Given the description of an element on the screen output the (x, y) to click on. 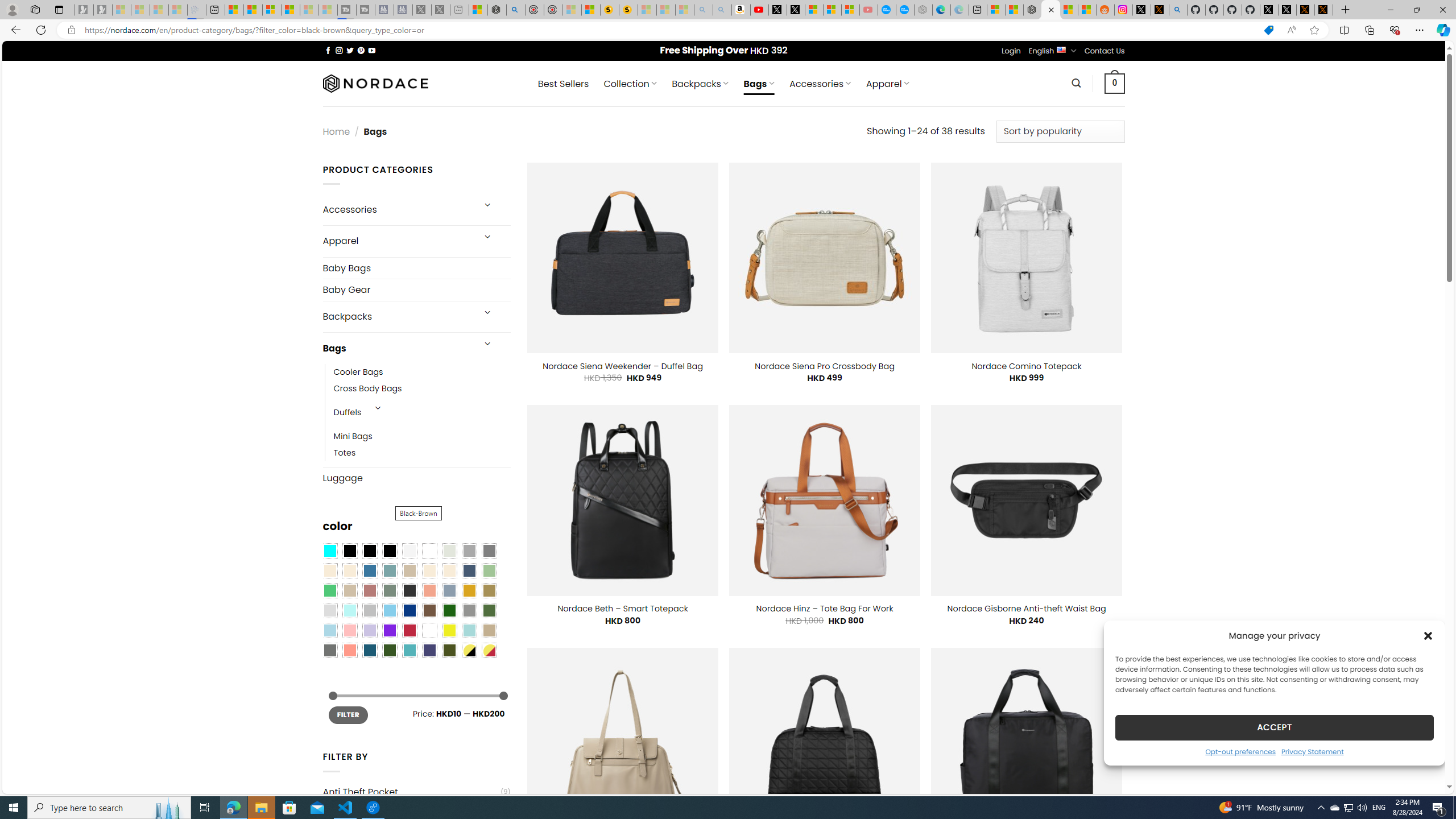
Capri Blue (369, 649)
Sage (389, 590)
Newsletter Sign Up - Sleeping (102, 9)
Nordace - Nordace has arrived Hong Kong - Sleeping (923, 9)
 Best Sellers (563, 83)
Clear (429, 550)
Gloom - YouTube - Sleeping (868, 9)
Light Purple (369, 630)
